Given the description of an element on the screen output the (x, y) to click on. 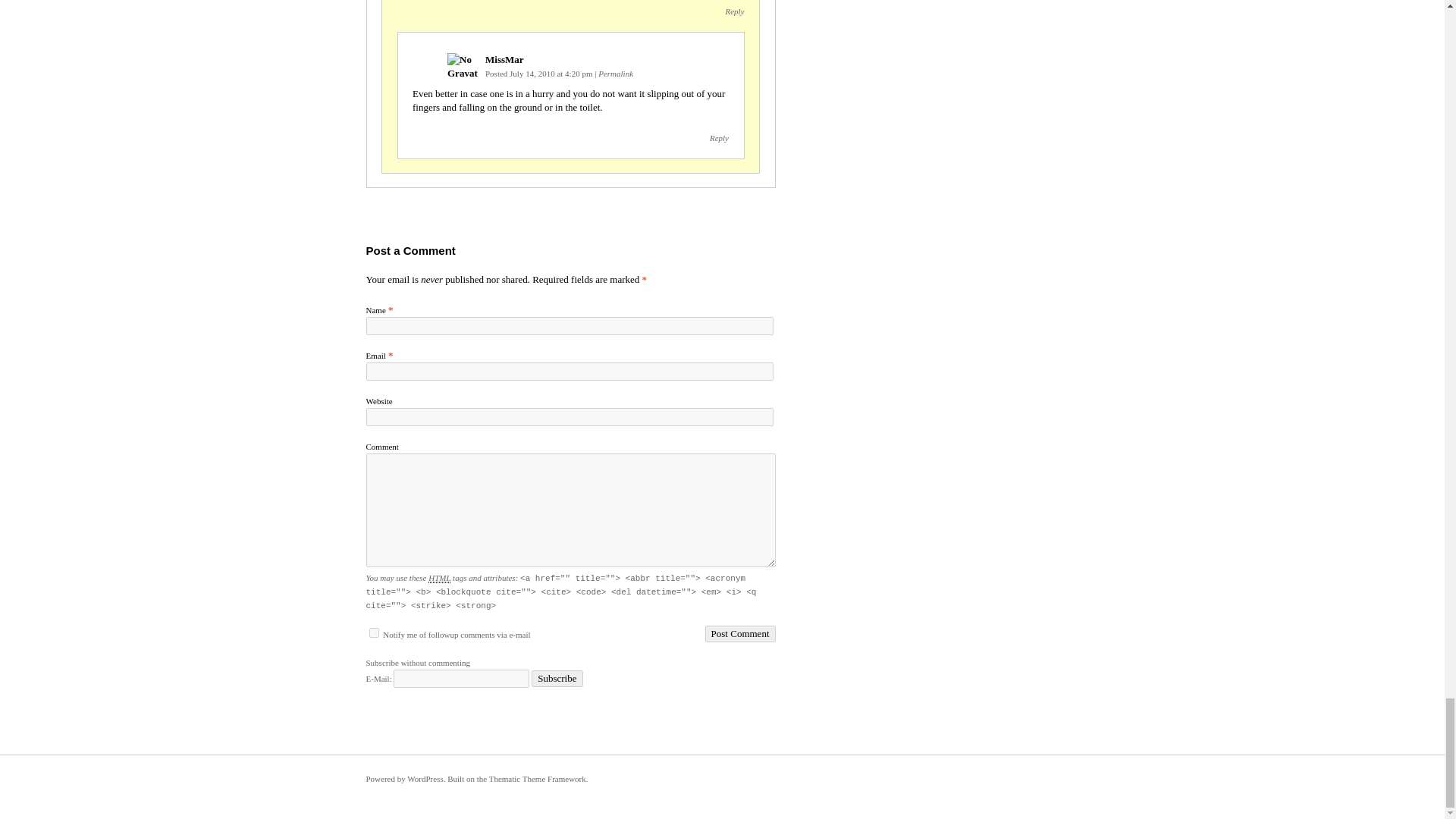
Subscribe (556, 678)
subscribe (373, 633)
Post Comment (740, 633)
